Given the description of an element on the screen output the (x, y) to click on. 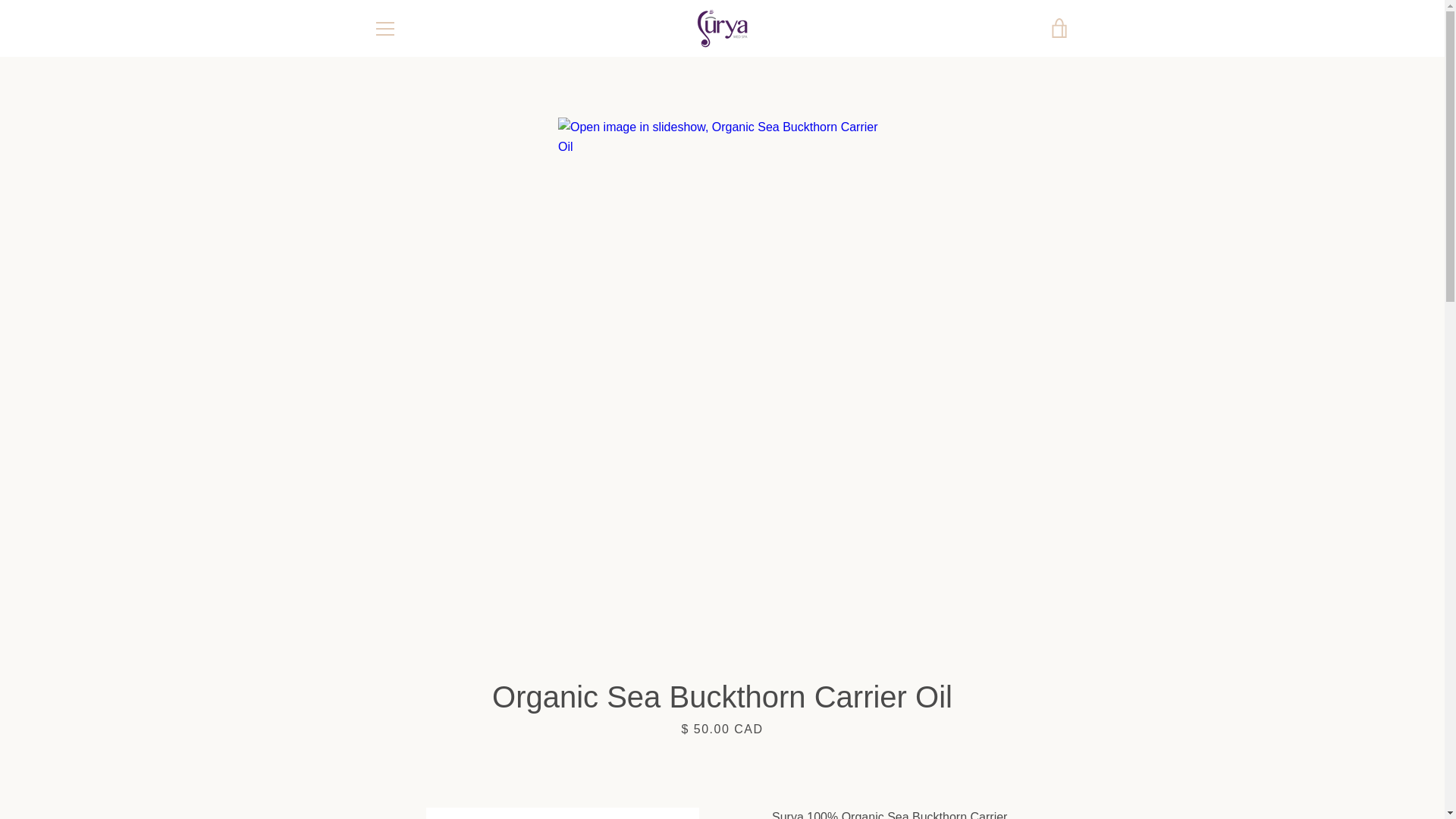
VIEW CART (1059, 27)
MENU (384, 27)
